Given the description of an element on the screen output the (x, y) to click on. 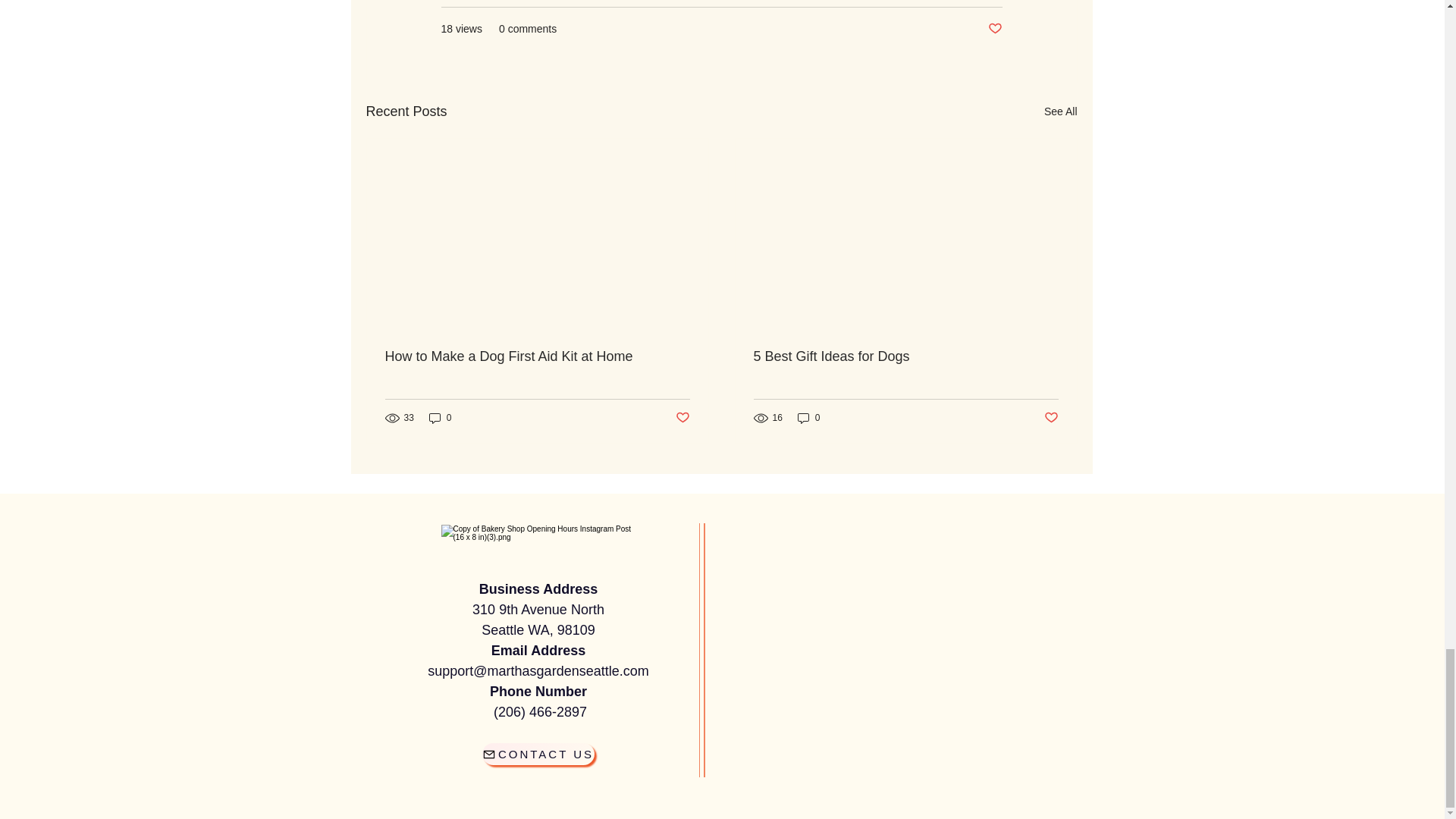
Post not marked as liked (681, 417)
See All (1060, 111)
0 (440, 418)
Post not marked as liked (1050, 417)
0 (809, 418)
5 Best Gift Ideas for Dogs (906, 356)
How to Make a Dog First Aid Kit at Home (537, 356)
Post not marked as liked (994, 28)
